Given the description of an element on the screen output the (x, y) to click on. 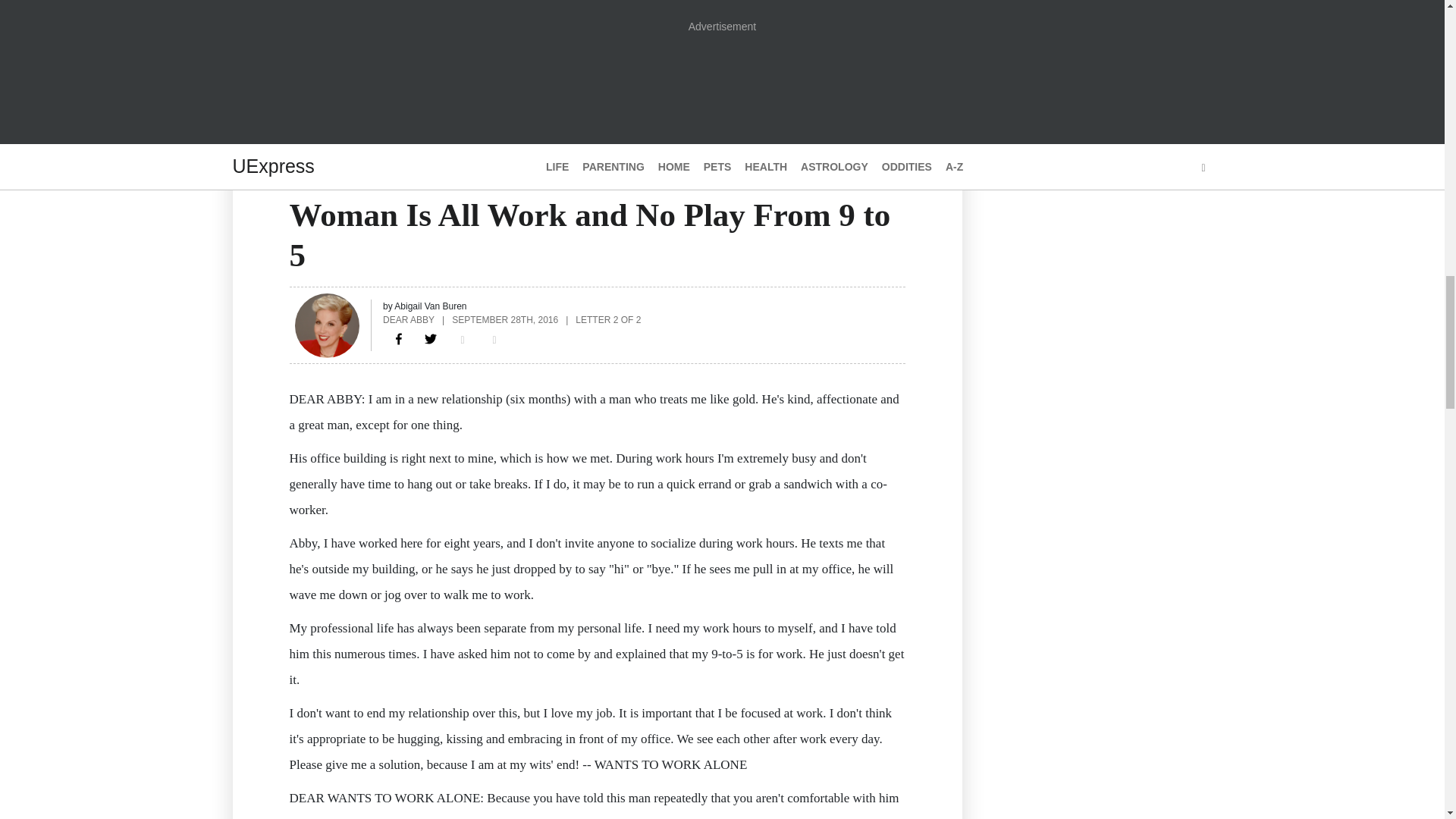
DEAR ABBY (407, 319)
Woman Is All Work and No Play From 9 to 5 (398, 338)
LIFE (301, 185)
